Given the description of an element on the screen output the (x, y) to click on. 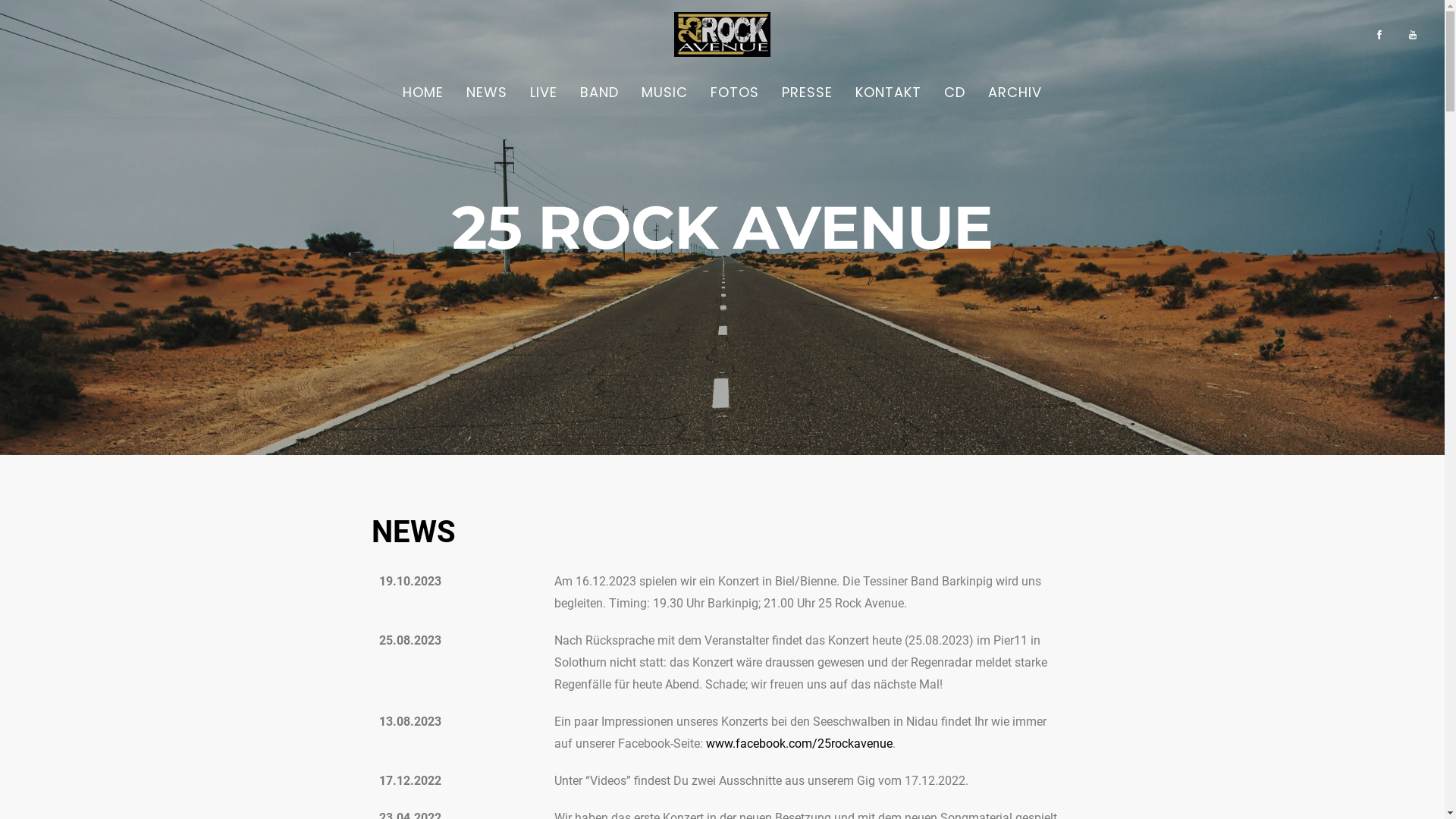
KONTAKT Element type: text (888, 92)
NEWS Element type: text (486, 92)
HOME Element type: text (422, 92)
FOTOS Element type: text (734, 92)
PRESSE Element type: text (806, 92)
www.facebook.com/25rockavenue Element type: text (799, 743)
MUSIC Element type: text (664, 92)
BAND Element type: text (599, 92)
ARCHIV Element type: text (1014, 92)
CD Element type: text (954, 92)
LIVE Element type: text (543, 92)
